Given the description of an element on the screen output the (x, y) to click on. 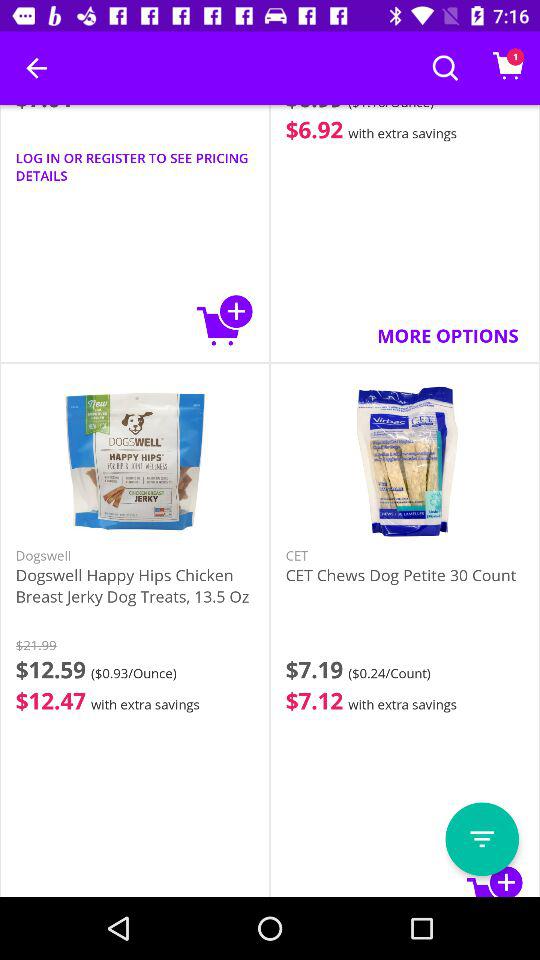
open menu (482, 839)
